Given the description of an element on the screen output the (x, y) to click on. 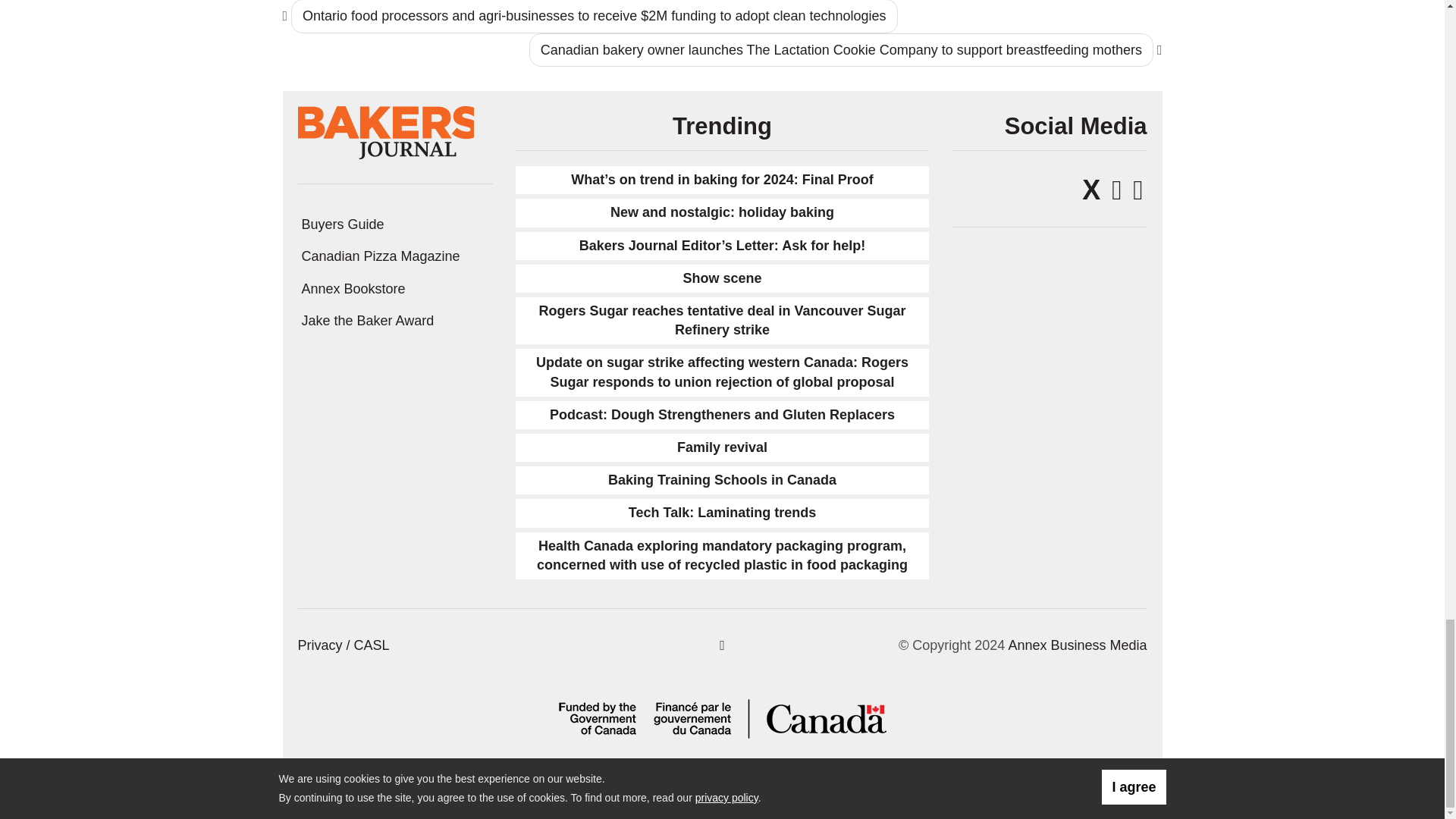
Bakers Journal (386, 131)
Annex Business Media (1077, 645)
